Given the description of an element on the screen output the (x, y) to click on. 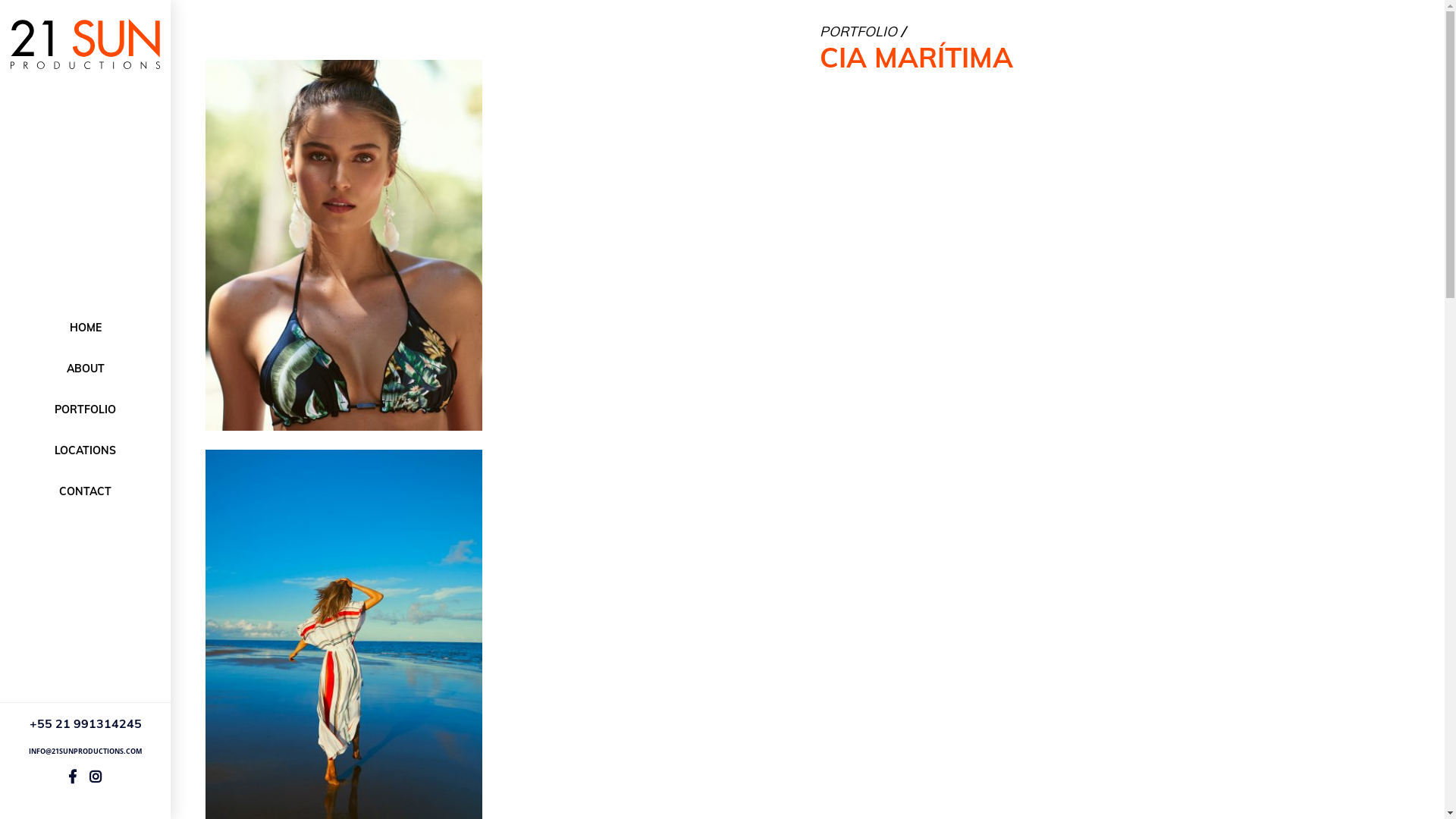
PORTFOLIO Element type: text (85, 409)
ABOUT Element type: text (85, 368)
CONTACT Element type: text (85, 491)
PORTFOLIO Element type: text (857, 31)
HOME Element type: text (85, 327)
LOCATIONS Element type: text (85, 450)
INFO@21SUNPRODUCTIONS.COM Element type: text (85, 751)
